Given the description of an element on the screen output the (x, y) to click on. 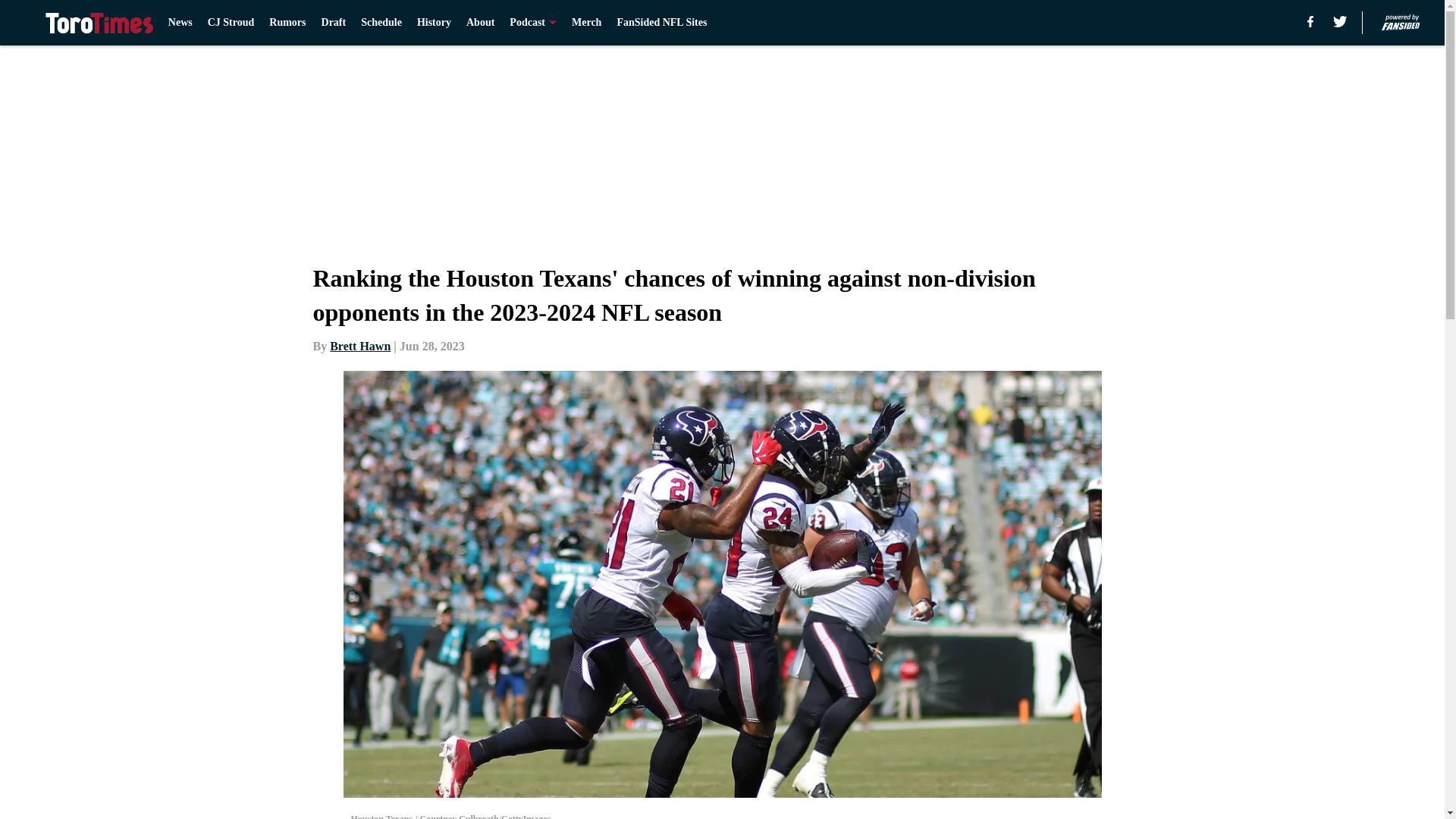
News (180, 22)
CJ Stroud (231, 22)
History (433, 22)
Rumors (287, 22)
Draft (333, 22)
About (480, 22)
Brett Hawn (360, 345)
Merch (586, 22)
FanSided NFL Sites (660, 22)
